Given the description of an element on the screen output the (x, y) to click on. 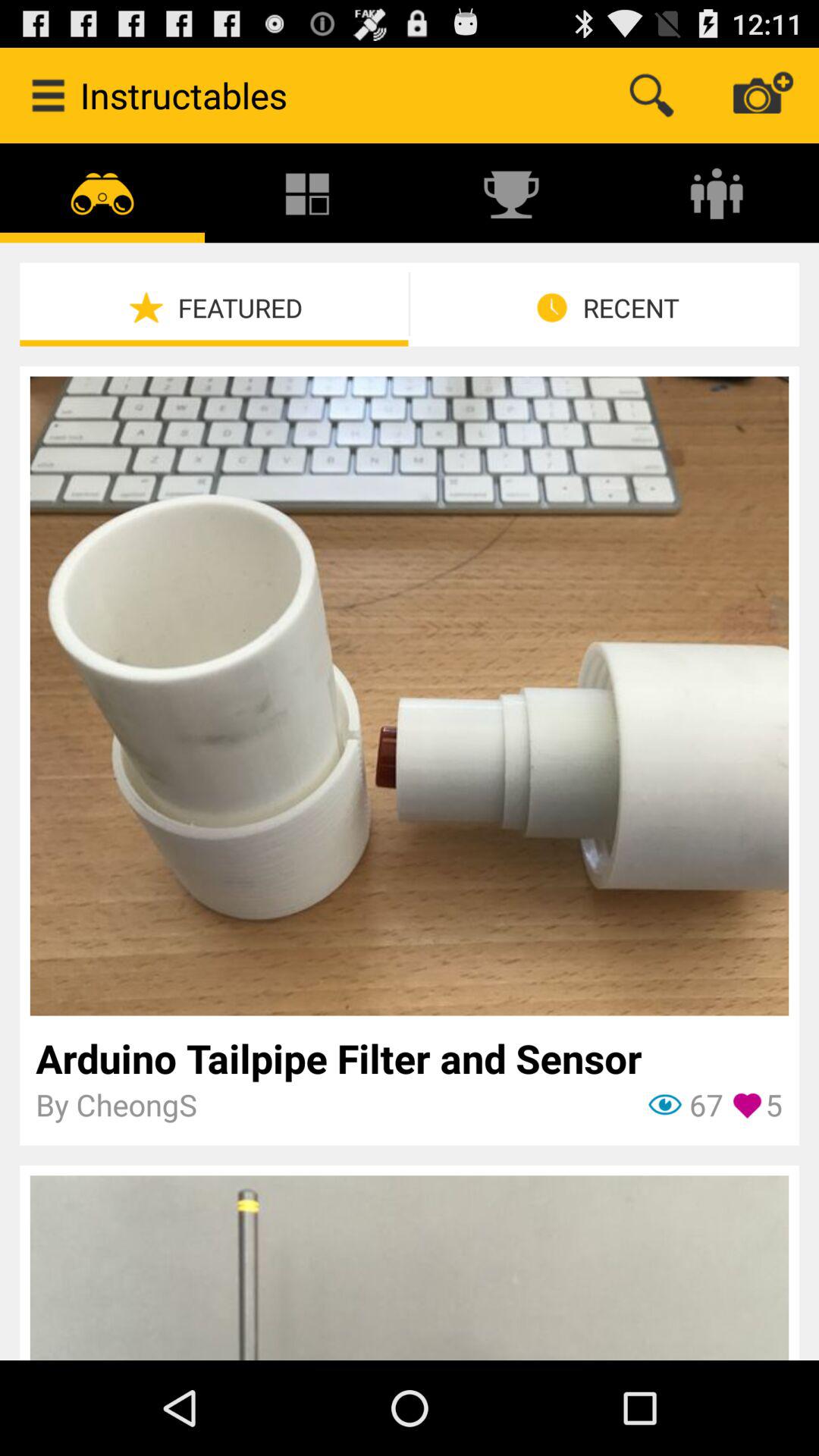
jump until the arduino tailpipe filter item (408, 1057)
